Given the description of an element on the screen output the (x, y) to click on. 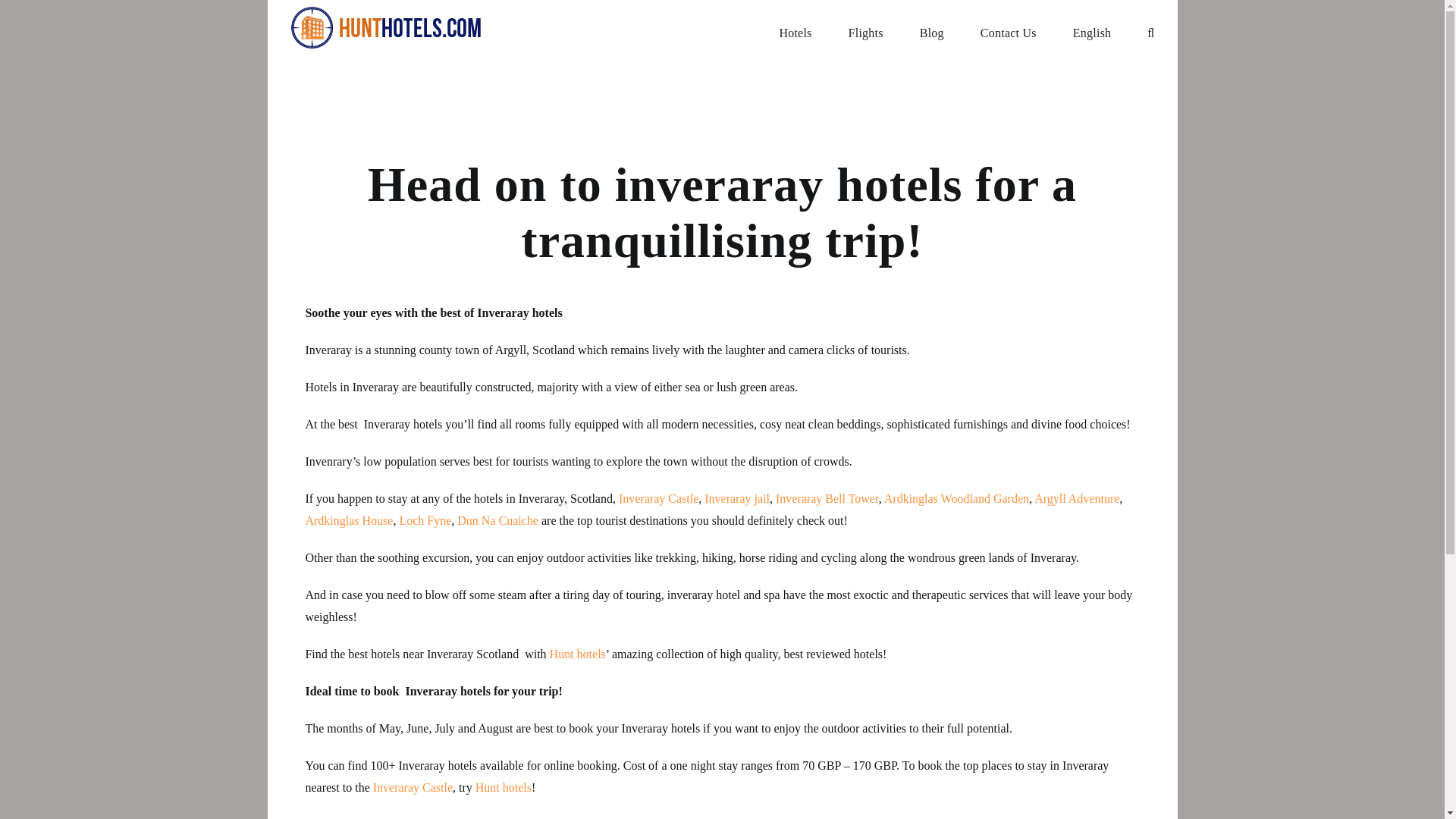
Inveraray Bell Tower (827, 498)
Hunt hotels (503, 787)
Inveraray jail (737, 498)
Inveraray Castle (658, 498)
Inveraray Castle (412, 787)
Argyll Adventure (1076, 498)
Ardkinglas House (348, 520)
Loch Fyne (424, 520)
Hunt hotels (577, 653)
Ardkinglas Woodland Garden (955, 498)
